Given the description of an element on the screen output the (x, y) to click on. 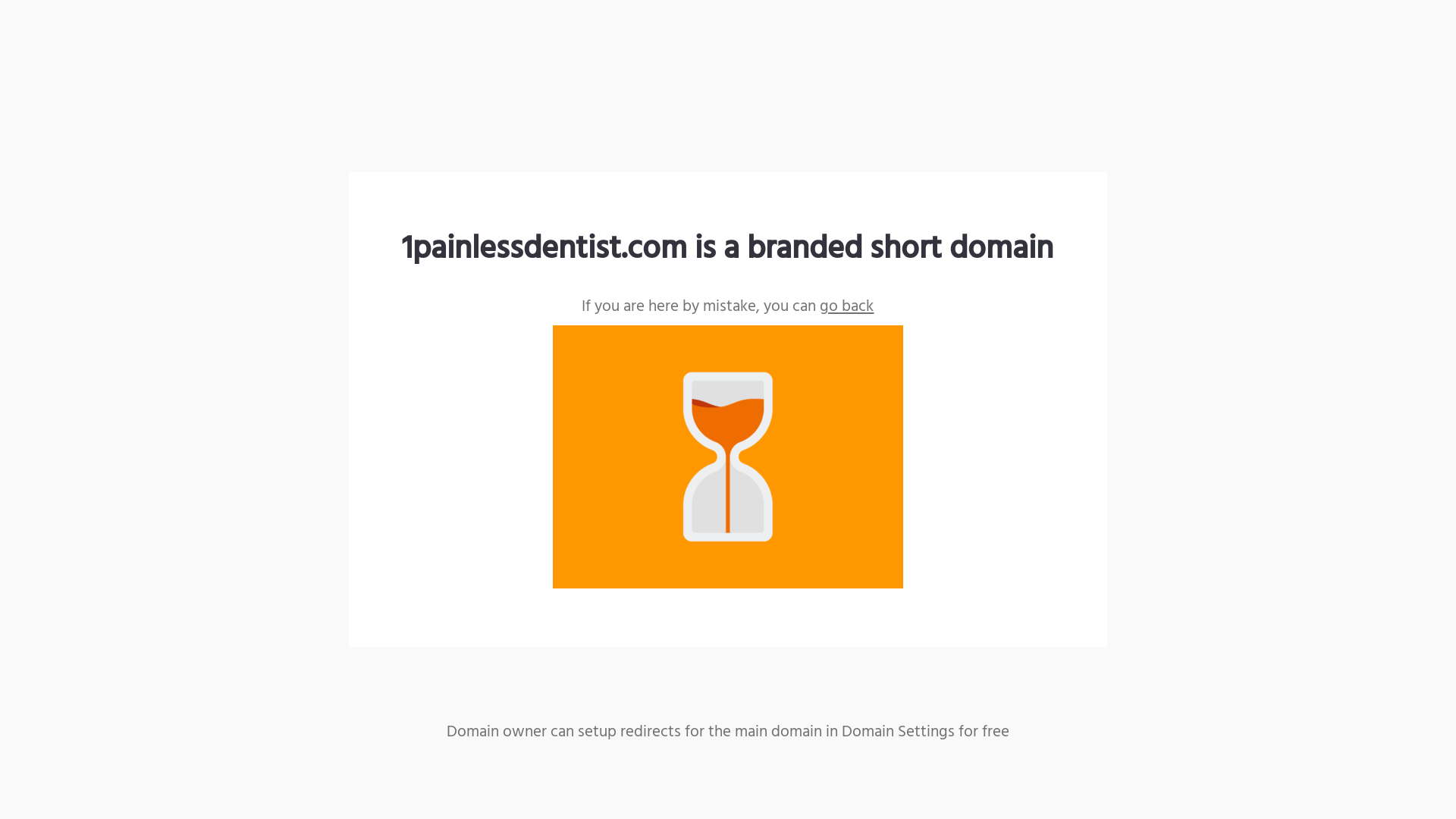
go back Element type: text (846, 306)
